Given the description of an element on the screen output the (x, y) to click on. 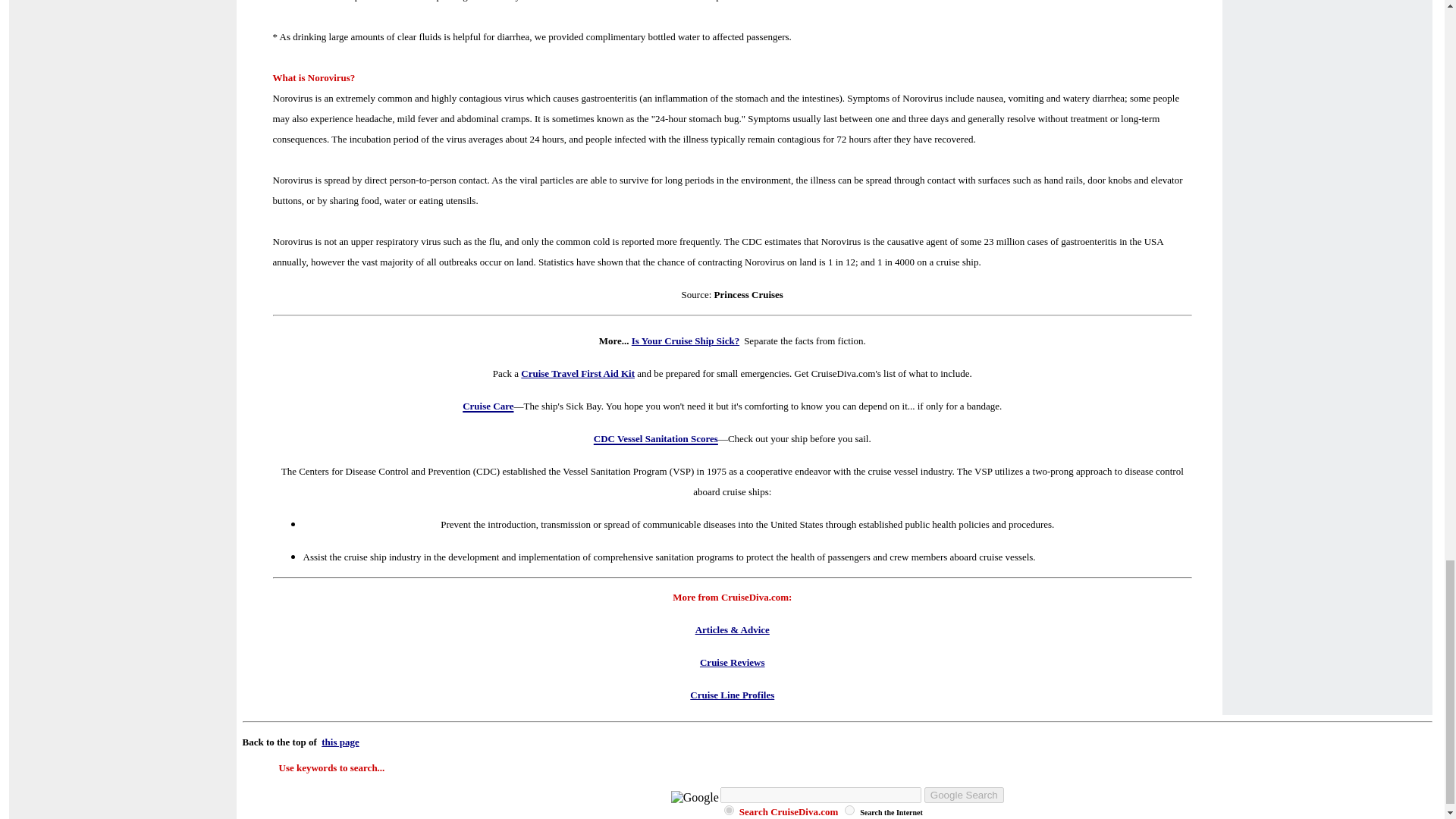
Is Your Cruise Ship Sick? (685, 340)
Google Search (964, 795)
this page (339, 741)
Cruise Care (488, 403)
Google Search (964, 795)
CDC Vessel Sanitation Scores (655, 435)
Cruise Travel First Aid Kit (577, 373)
cruisediva.com (728, 809)
Cruise Reviews (732, 662)
Cruise Line Profiles (732, 695)
